Given the description of an element on the screen output the (x, y) to click on. 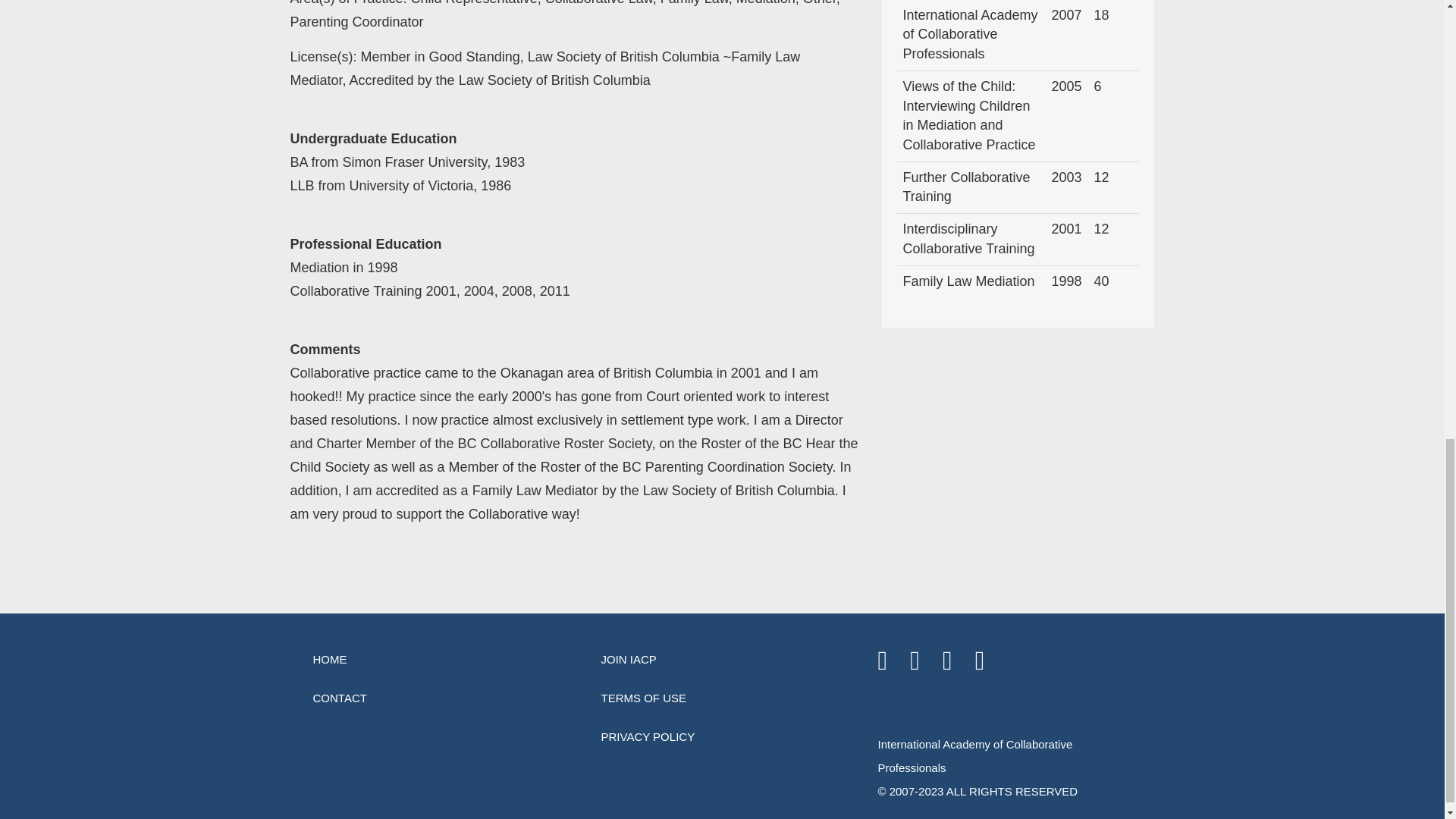
PRIVACY POLICY (721, 736)
JOIN IACP (721, 658)
HOME (434, 658)
CONTACT (434, 697)
TERMS OF USE (721, 697)
